Given the description of an element on the screen output the (x, y) to click on. 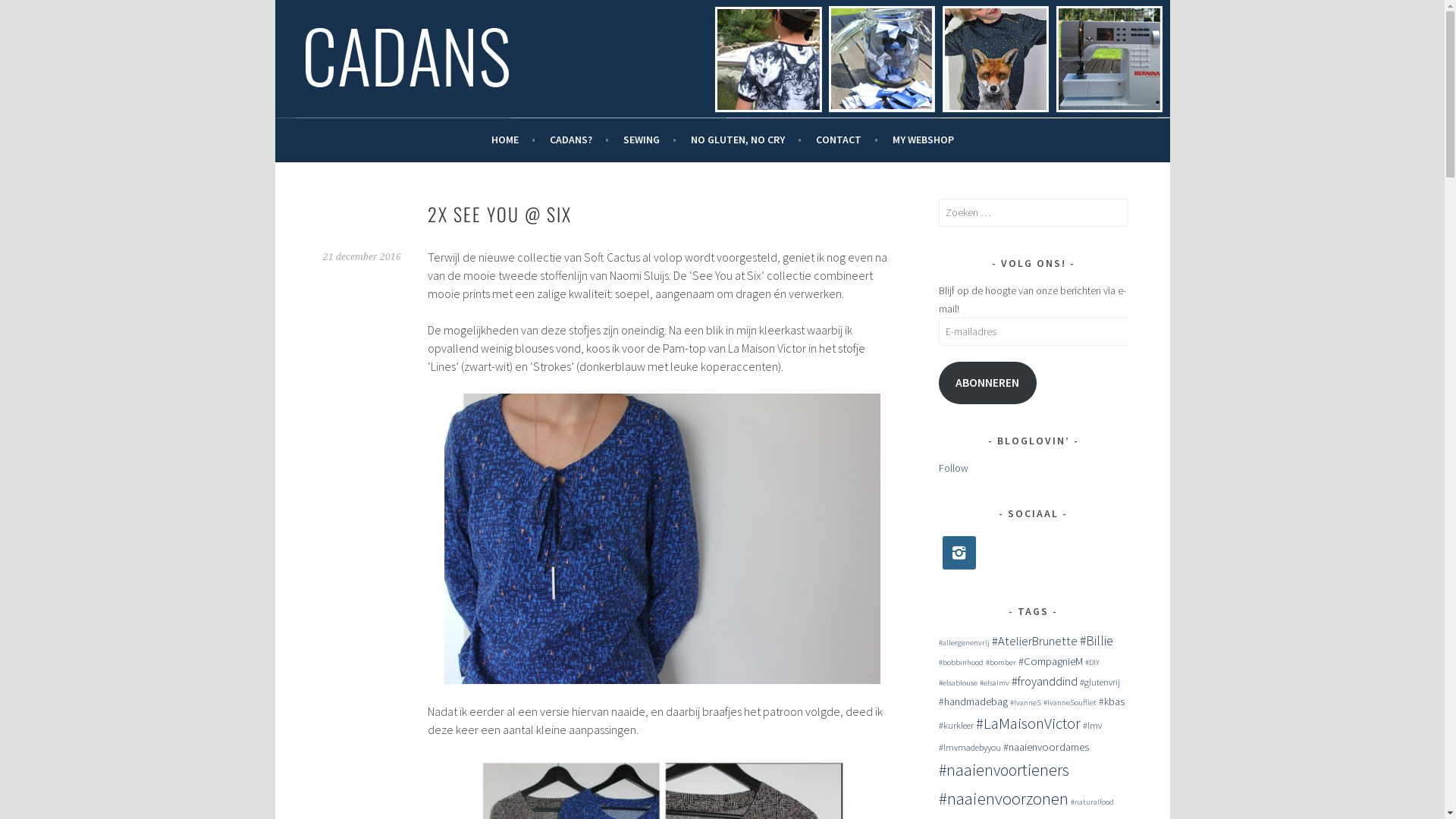
#glutenvrij Element type: text (1099, 681)
NO GLUTEN, NO CRY Element type: text (745, 139)
Follow Element type: text (953, 467)
HOME Element type: text (513, 139)
#naaienvoortieners Element type: text (1003, 769)
ABONNEREN Element type: text (987, 382)
#allergenenvrij Element type: text (963, 642)
#lmvmadebyyou Element type: text (969, 747)
#Billie Element type: text (1096, 640)
MY WEBSHOP Element type: text (922, 139)
#LaMaisonVictor Element type: text (1027, 723)
#elsalmv Element type: text (994, 682)
CADANS? Element type: text (578, 139)
#bomber Element type: text (1000, 662)
CONTACT Element type: text (846, 139)
#CompagnieM Element type: text (1049, 661)
21 december 2016 Element type: text (362, 256)
#froyanddind Element type: text (1044, 680)
#kbas Element type: text (1110, 701)
SEWING Element type: text (649, 139)
#naaienvoordames Element type: text (1045, 746)
#kurkleer Element type: text (955, 725)
#IvanneSoufflet Element type: text (1069, 702)
#elsablouse Element type: text (957, 682)
#lmv Element type: text (1091, 725)
#DIY Element type: text (1091, 662)
#bobbinhood Element type: text (960, 662)
CADANS Element type: text (361, 72)
#AtelierBrunette Element type: text (1034, 640)
#naaienvoorzonen Element type: text (1003, 798)
#handmadebag Element type: text (972, 701)
#naturalfood Element type: text (1091, 801)
#IvanneS Element type: text (1025, 702)
Zoeken Element type: text (27, 13)
